Given the description of an element on the screen output the (x, y) to click on. 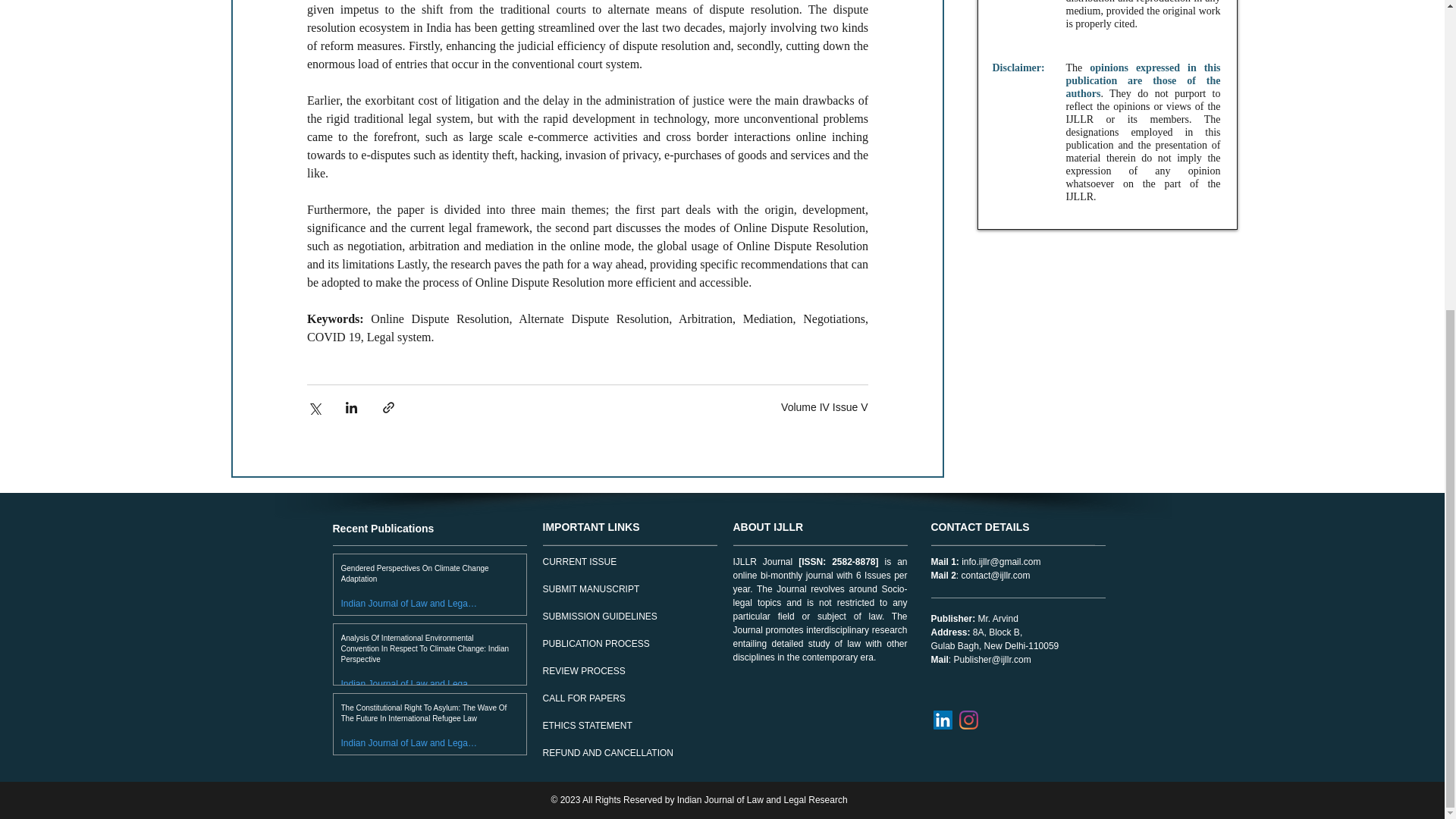
CURRENT ISSUE (580, 561)
Gendered Perspectives On Climate Change Adaptation (424, 576)
Indian Journal of Law and Legal Research (408, 603)
ETHICS STATEMENT (587, 725)
Indian Journal of Law and Legal Research (408, 683)
PUBLICATION PROCESS (596, 643)
Indian Journal of Law and Legal Research (408, 742)
CALL FOR PAPERS (584, 697)
REVIEW PROCESS (584, 670)
Indian Journal of Law and Legal Research (408, 683)
